Given the description of an element on the screen output the (x, y) to click on. 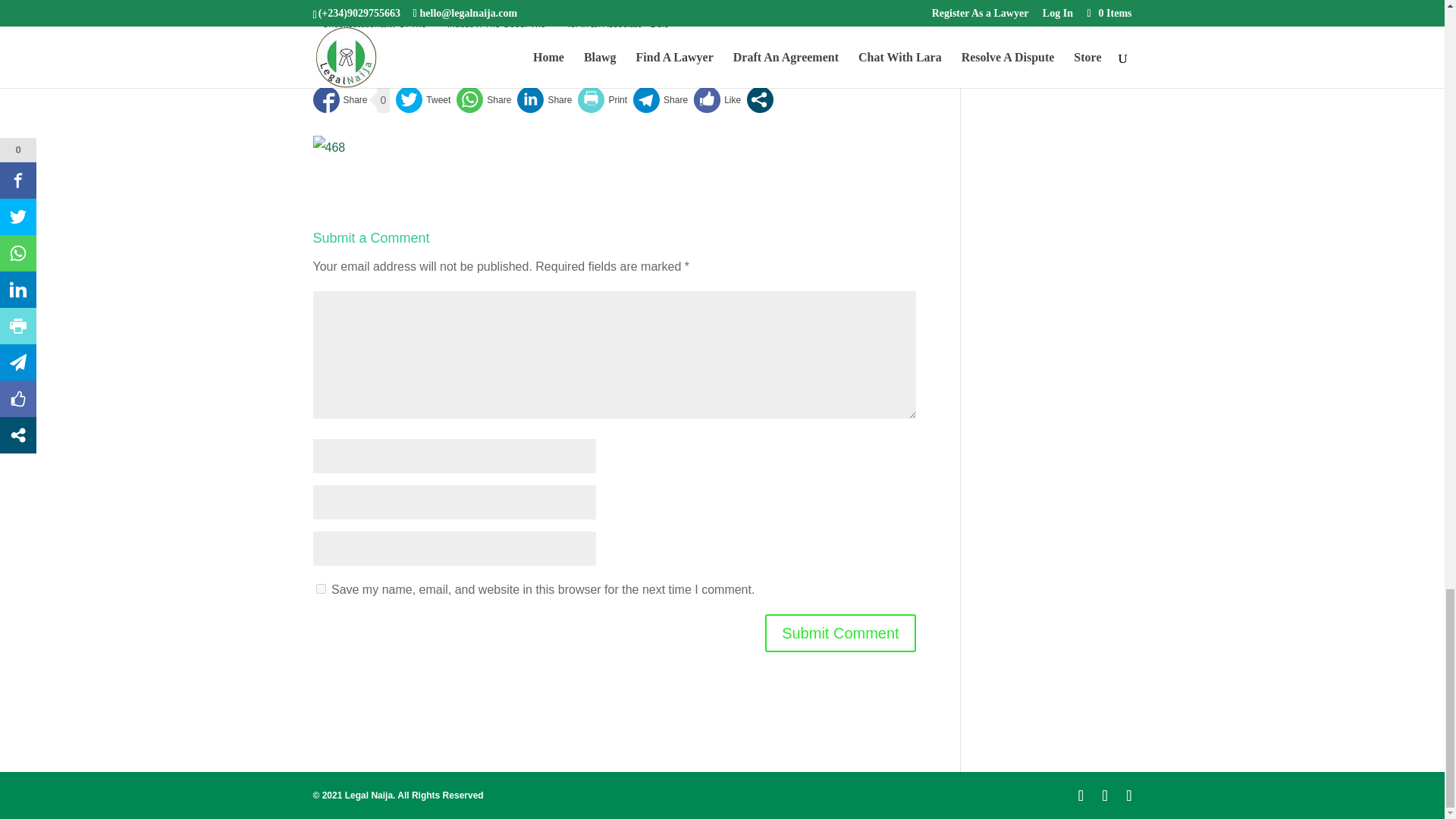
Share on Facebook (339, 99)
Tweet (422, 99)
Submit Comment (840, 632)
Share on WhatsApp (484, 99)
yes (319, 588)
